Given the description of an element on the screen output the (x, y) to click on. 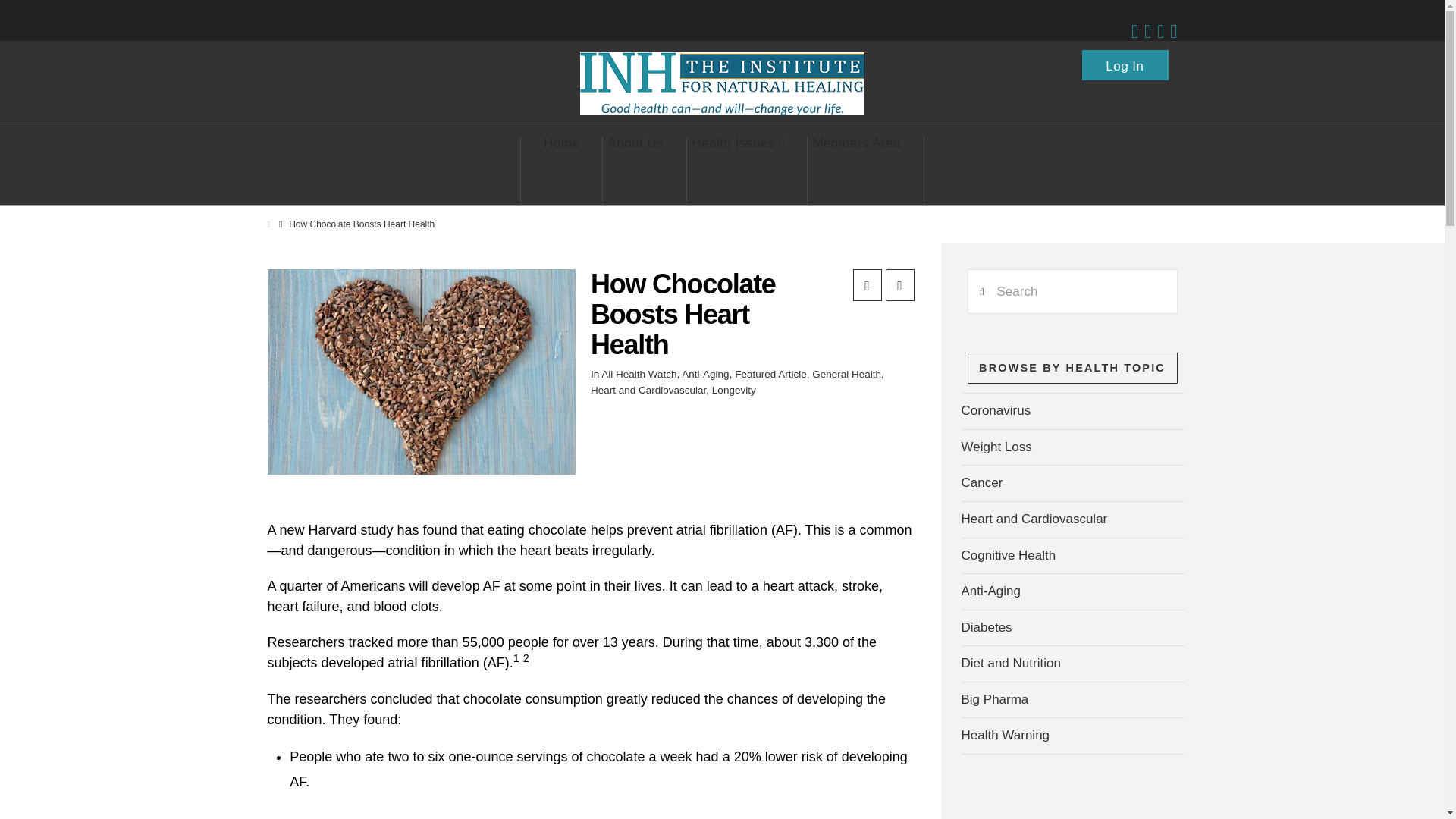
About Us (636, 170)
Members Area (856, 170)
Log In (1125, 61)
Home (560, 170)
Natural Health Breakthroughs from Across the Globe (721, 83)
Health Issues (738, 170)
